Given the description of an element on the screen output the (x, y) to click on. 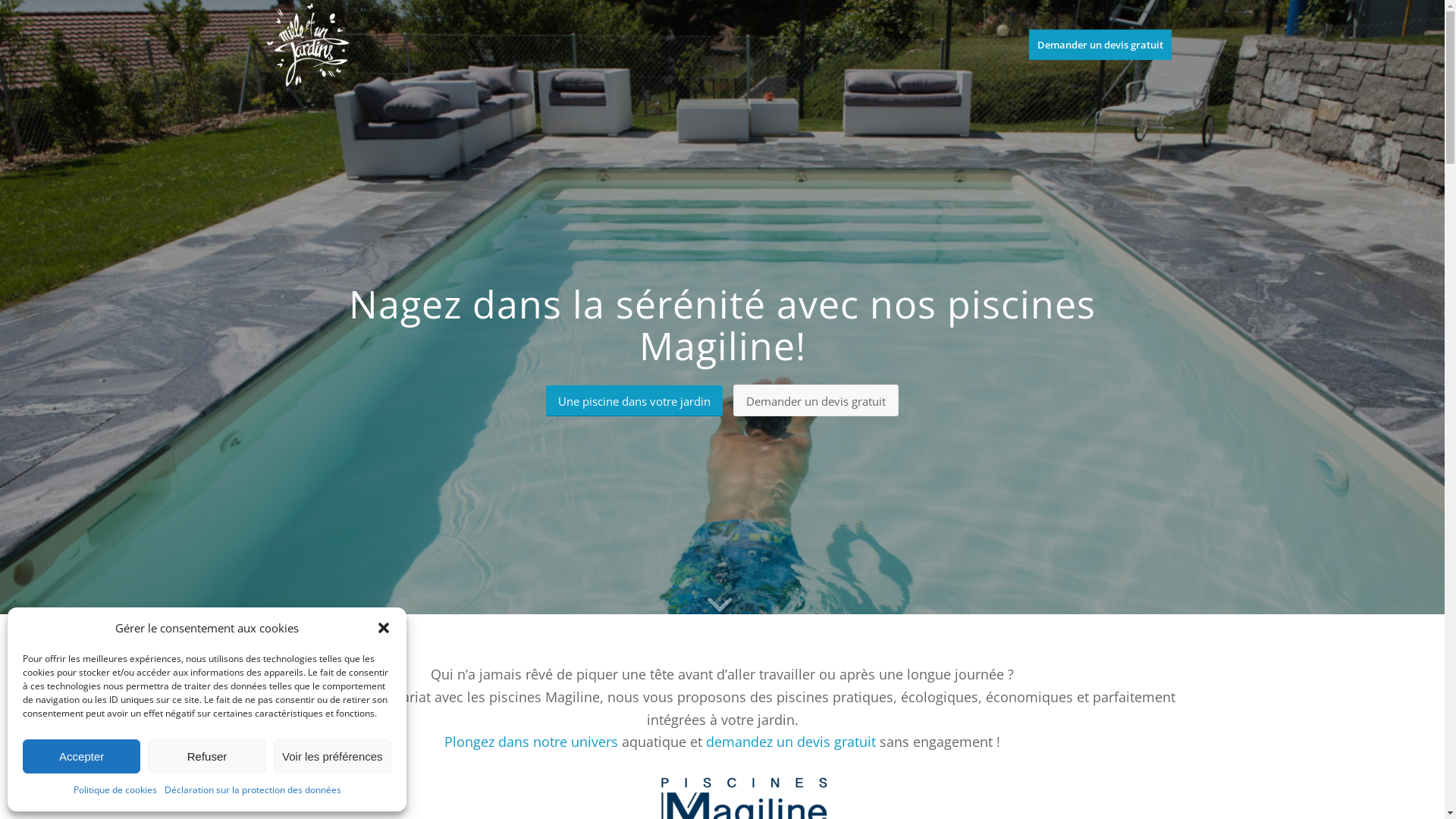
Demander un devis gratuit Element type: text (815, 400)
Refuser Element type: text (206, 756)
demandez un devis gratuit Element type: text (790, 741)
Accepter Element type: text (81, 756)
Plongez dans notre univers Element type: text (531, 741)
Demander un devis gratuit Element type: text (1100, 44)
Une piscine dans votre jardin Element type: text (634, 400)
Politique de cookies Element type: text (114, 790)
